Given the description of an element on the screen output the (x, y) to click on. 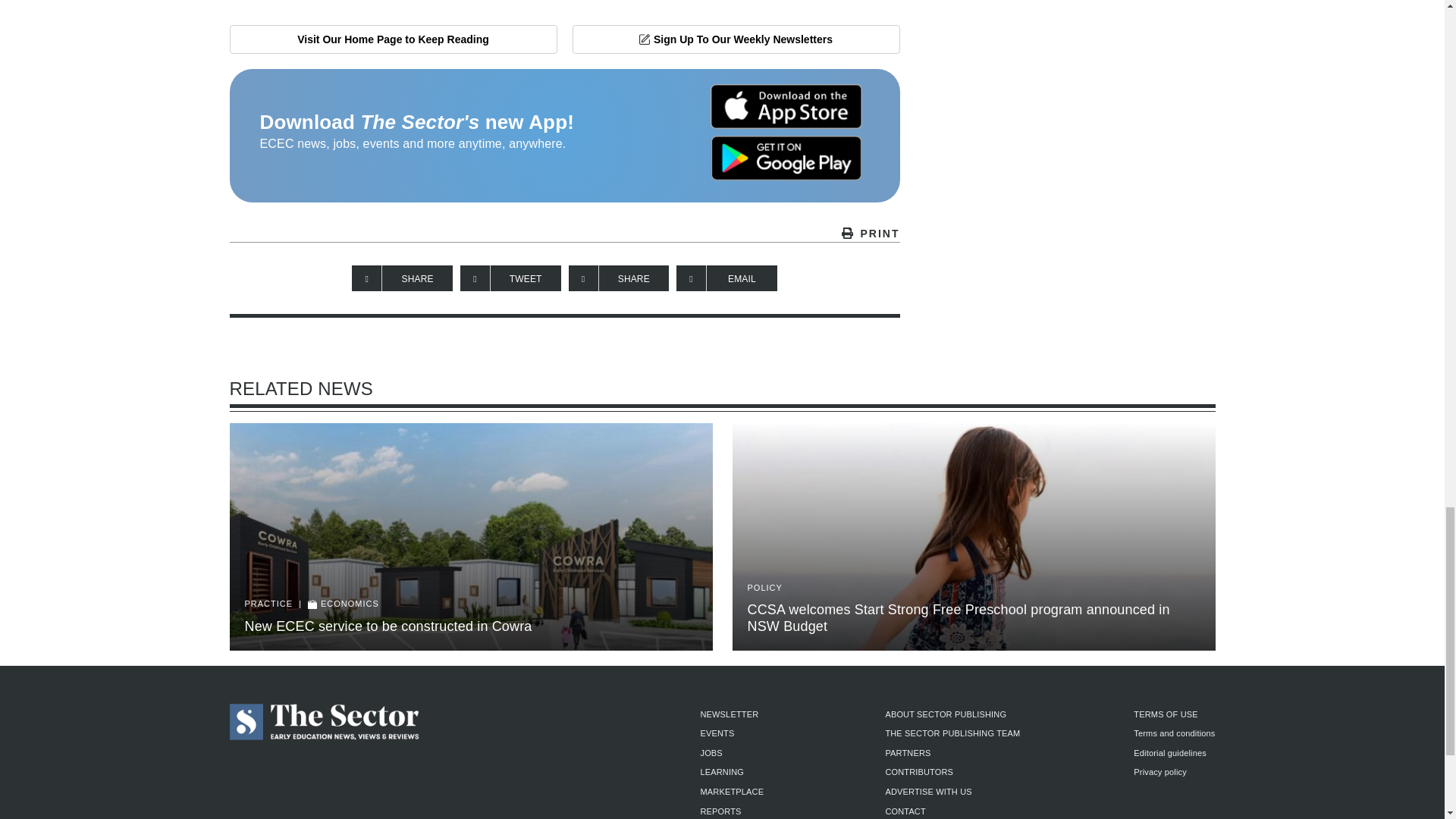
Share on LinkedIn (619, 278)
Share on Facebook (402, 278)
Share on Email (727, 278)
Visit Our Home Page to Keep Reading (392, 39)
Tweet (510, 278)
Sign Up To Our Weekly Newsletters (735, 39)
